Given the description of an element on the screen output the (x, y) to click on. 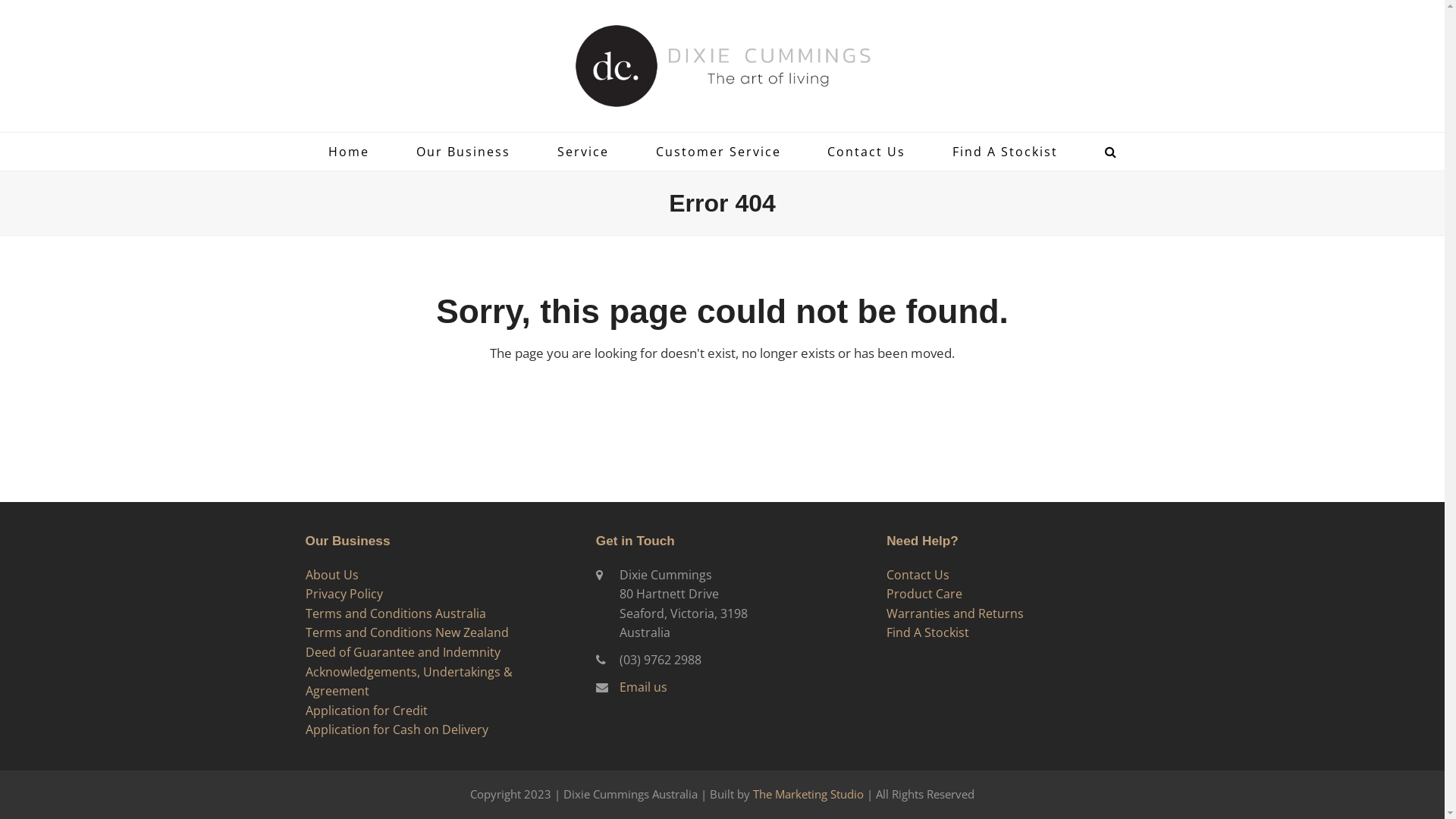
Contact Us Element type: text (865, 151)
Find A Stockist Element type: text (927, 632)
Product Care Element type: text (924, 593)
Application for Cash on Delivery Element type: text (395, 729)
Contact Us Element type: text (917, 574)
The Marketing Studio Element type: text (808, 793)
Terms and Conditions New Zealand Element type: text (406, 632)
Find A Stockist Element type: text (1004, 151)
Home Element type: text (348, 151)
Terms and Conditions Australia Element type: text (394, 613)
Service Element type: text (582, 151)
Deed of Guarantee and Indemnity Element type: text (401, 651)
About Us Element type: text (330, 574)
Warranties and Returns Element type: text (954, 613)
Application for Credit Element type: text (365, 710)
Email us Element type: text (643, 686)
Customer Service Element type: text (718, 151)
Our Business Element type: text (462, 151)
Privacy Policy Element type: text (343, 593)
Acknowledgements, Undertakings & Agreement Element type: text (407, 681)
